Given the description of an element on the screen output the (x, y) to click on. 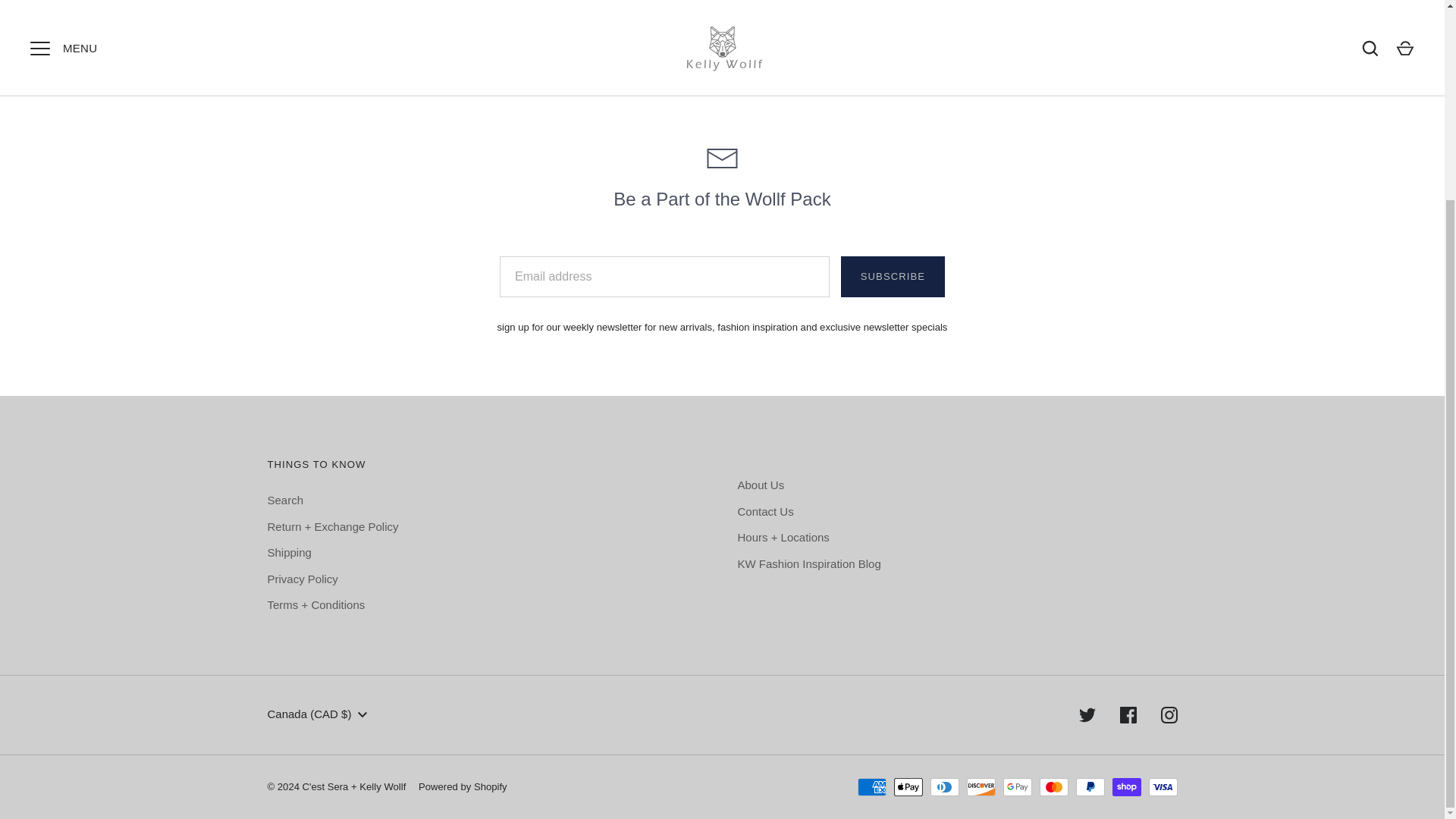
Email (722, 158)
Down (362, 714)
